Given the description of an element on the screen output the (x, y) to click on. 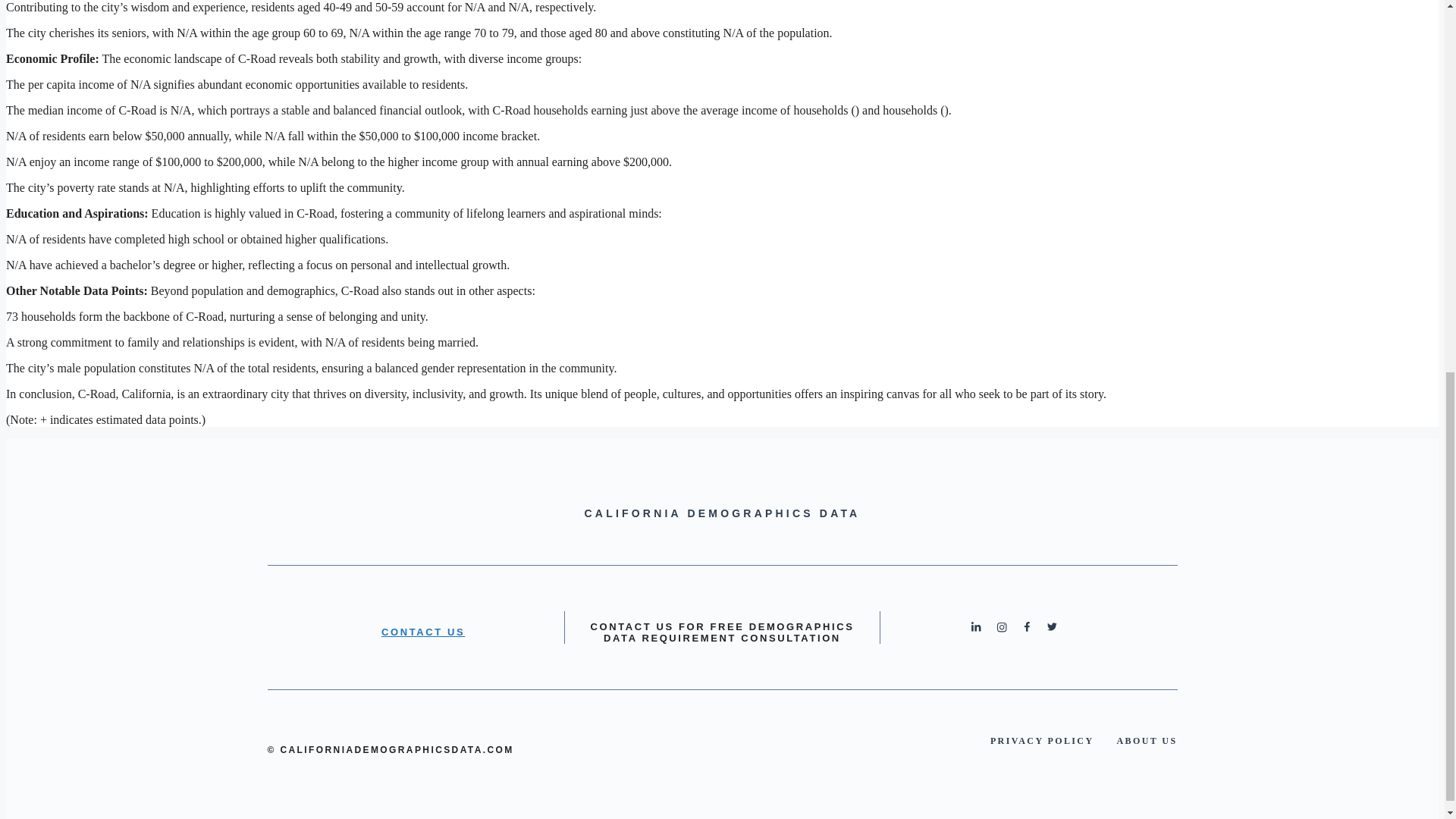
ABOUT US (1146, 740)
CONTACT US (422, 632)
PRIVACY POLICY (1042, 740)
